Given the description of an element on the screen output the (x, y) to click on. 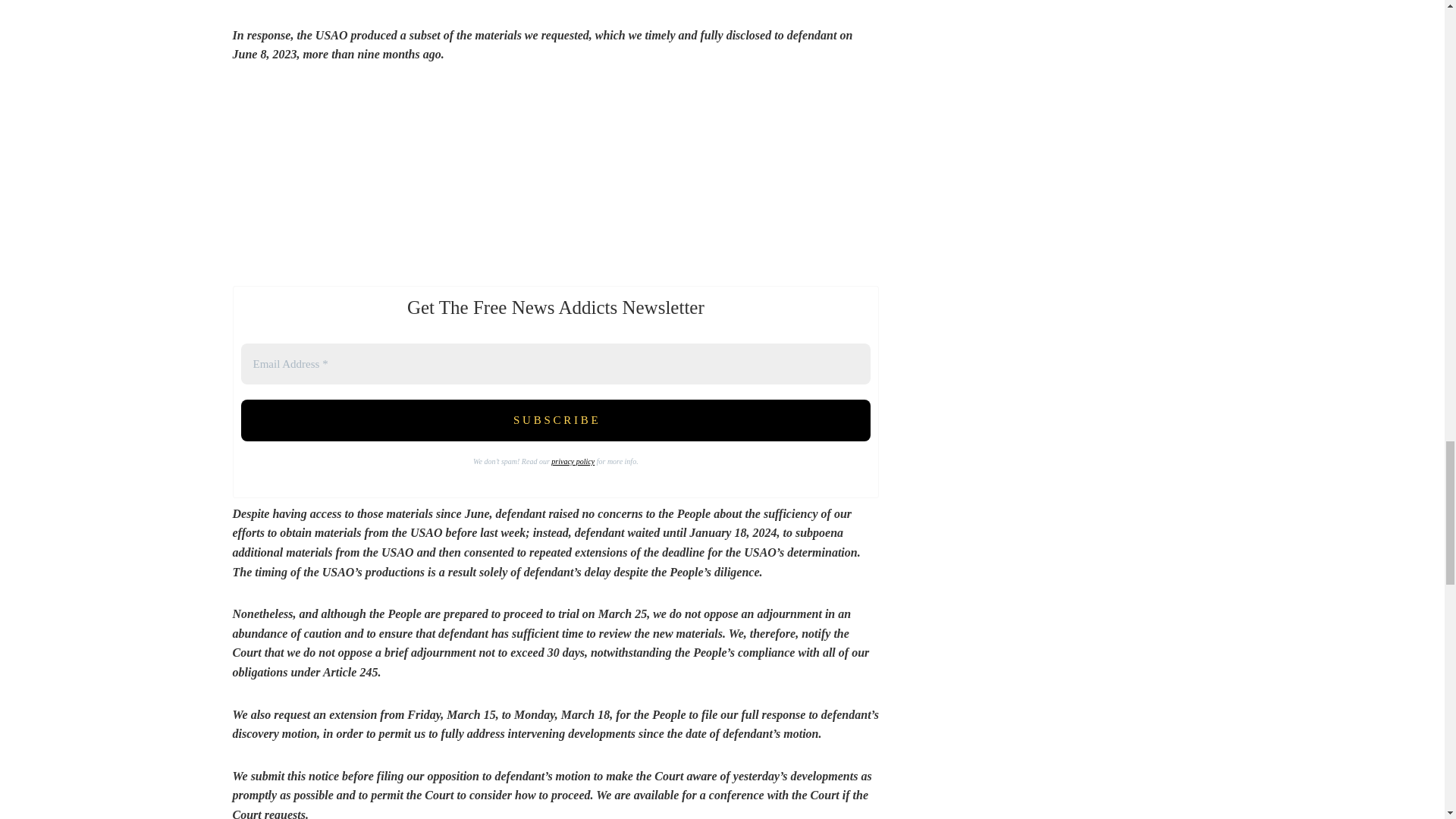
Email Address (555, 363)
S U B S C R I B E (555, 420)
privacy policy (572, 461)
S U B S C R I B E (555, 420)
